Given the description of an element on the screen output the (x, y) to click on. 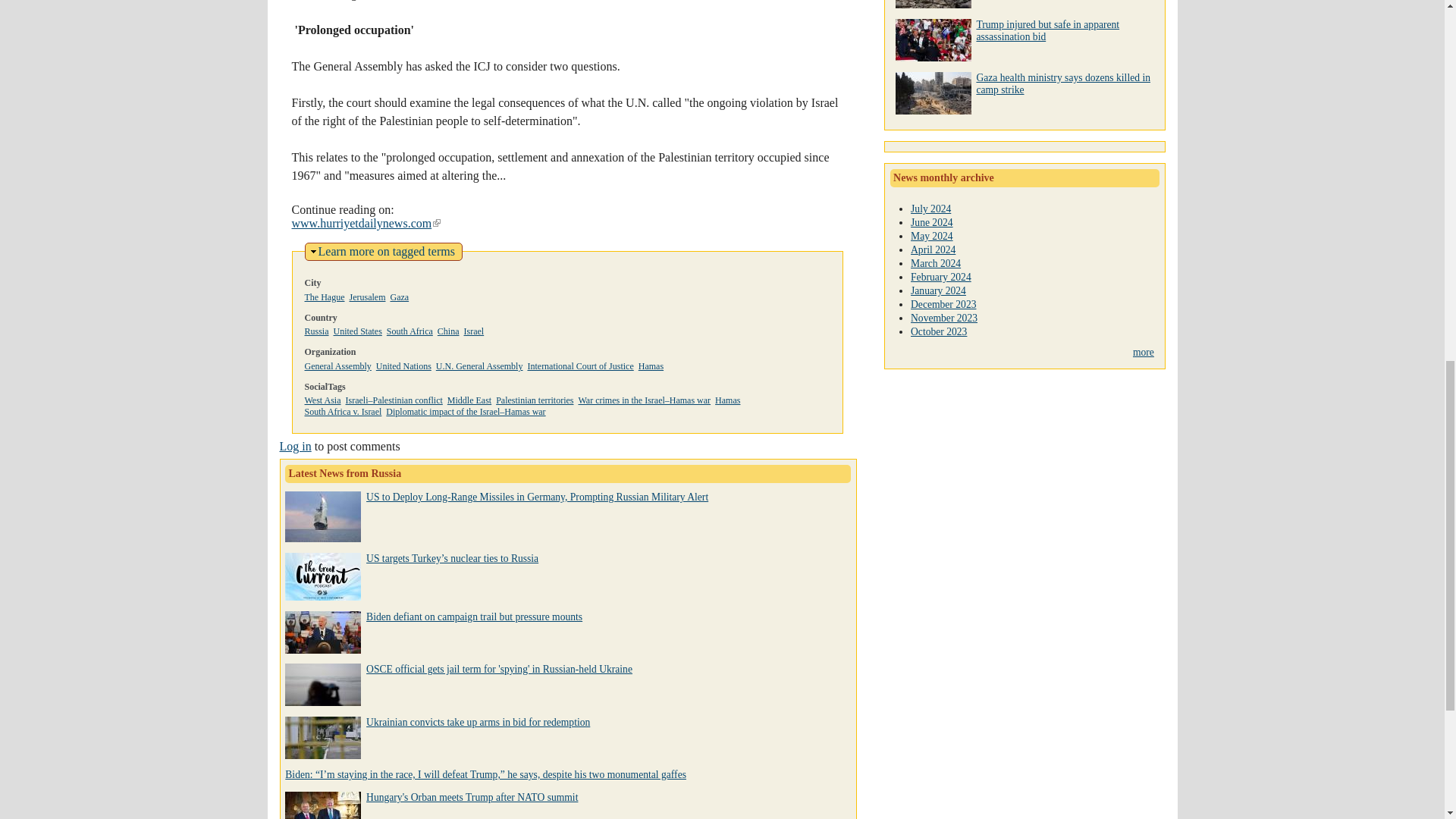
Hamas (651, 366)
General Assembly (337, 366)
United States (357, 330)
West Asia (322, 399)
U.N. General Assembly (478, 366)
Jerusalem (367, 296)
United Nations (402, 366)
Israel (474, 330)
International Court of Justice (580, 366)
Palestinian territories (386, 250)
South Africa (534, 399)
China (409, 330)
The Hague (449, 330)
Hamas (324, 296)
